Given the description of an element on the screen output the (x, y) to click on. 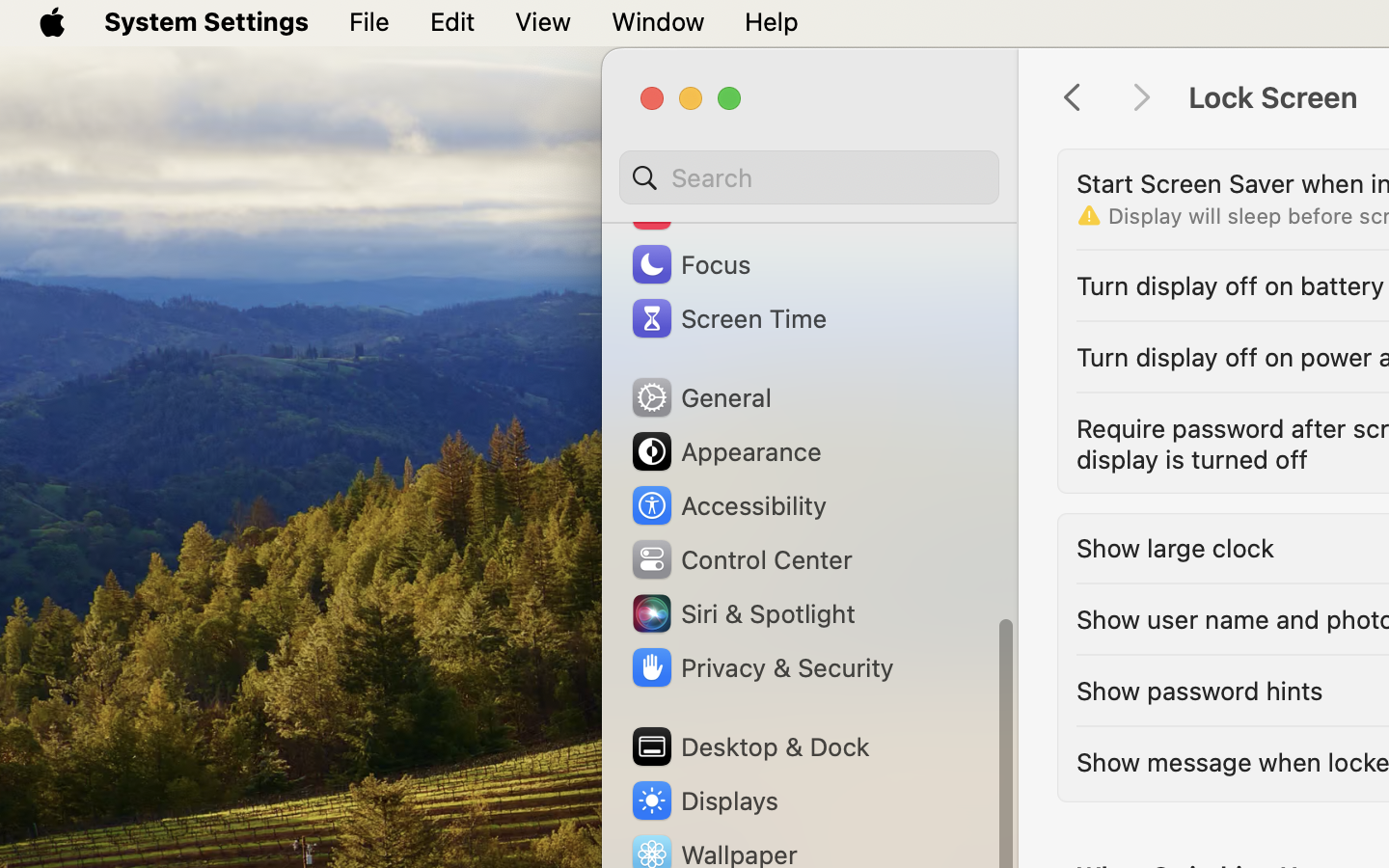
Appearance Element type: AXStaticText (724, 451)
Focus Element type: AXStaticText (689, 264)
Screen Time Element type: AXStaticText (727, 318)
Sound Element type: AXStaticText (692, 210)
Privacy & Security Element type: AXStaticText (760, 667)
